Given the description of an element on the screen output the (x, y) to click on. 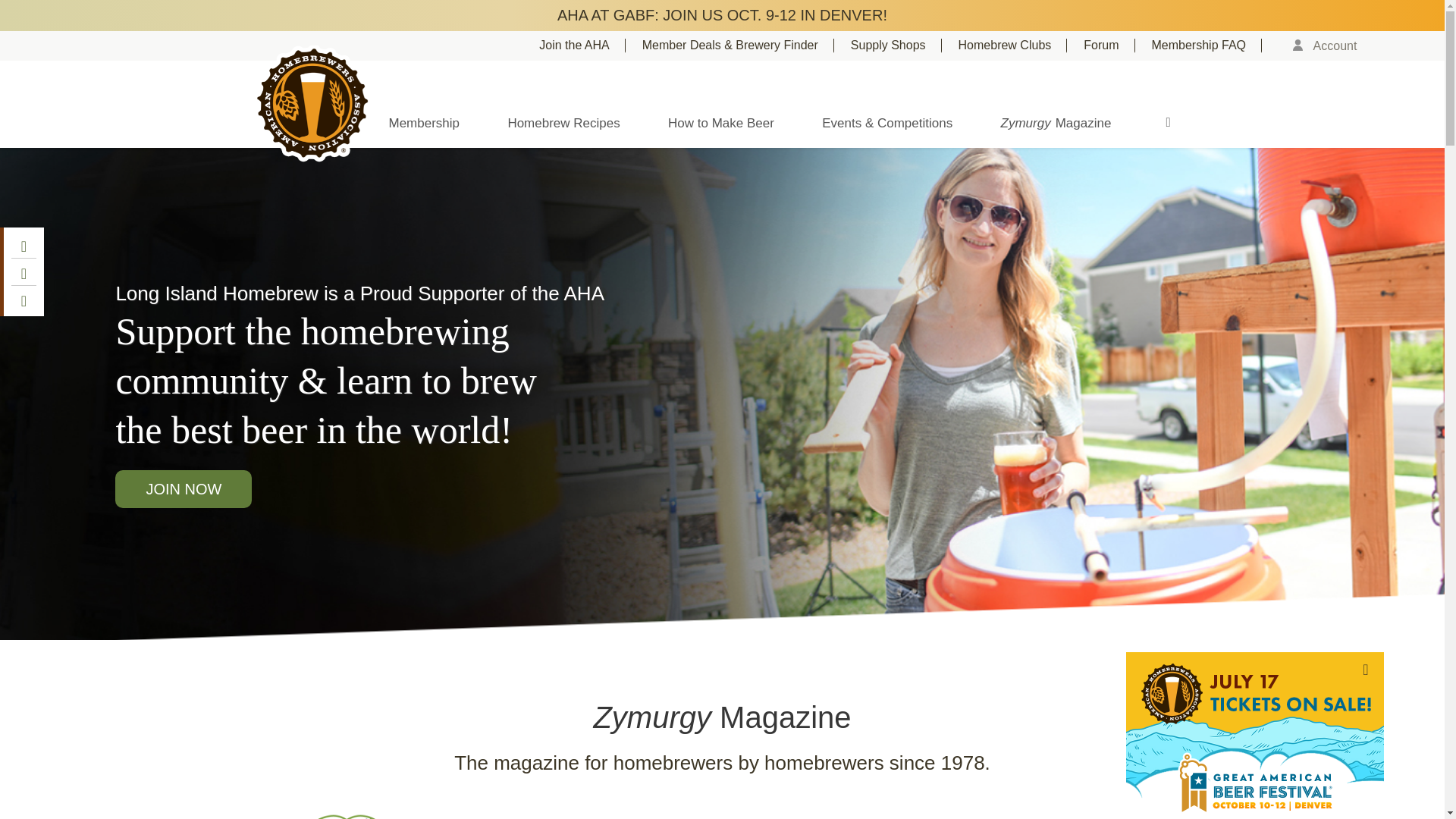
AHA AT GABF: JOIN US OCT. 9-12 IN DENVER! (721, 15)
Membership FAQ (1206, 45)
Forum (1108, 45)
Join the AHA (582, 45)
Supply Shops (896, 45)
Homebrew Clubs (1012, 45)
Account (1330, 46)
